Given the description of an element on the screen output the (x, y) to click on. 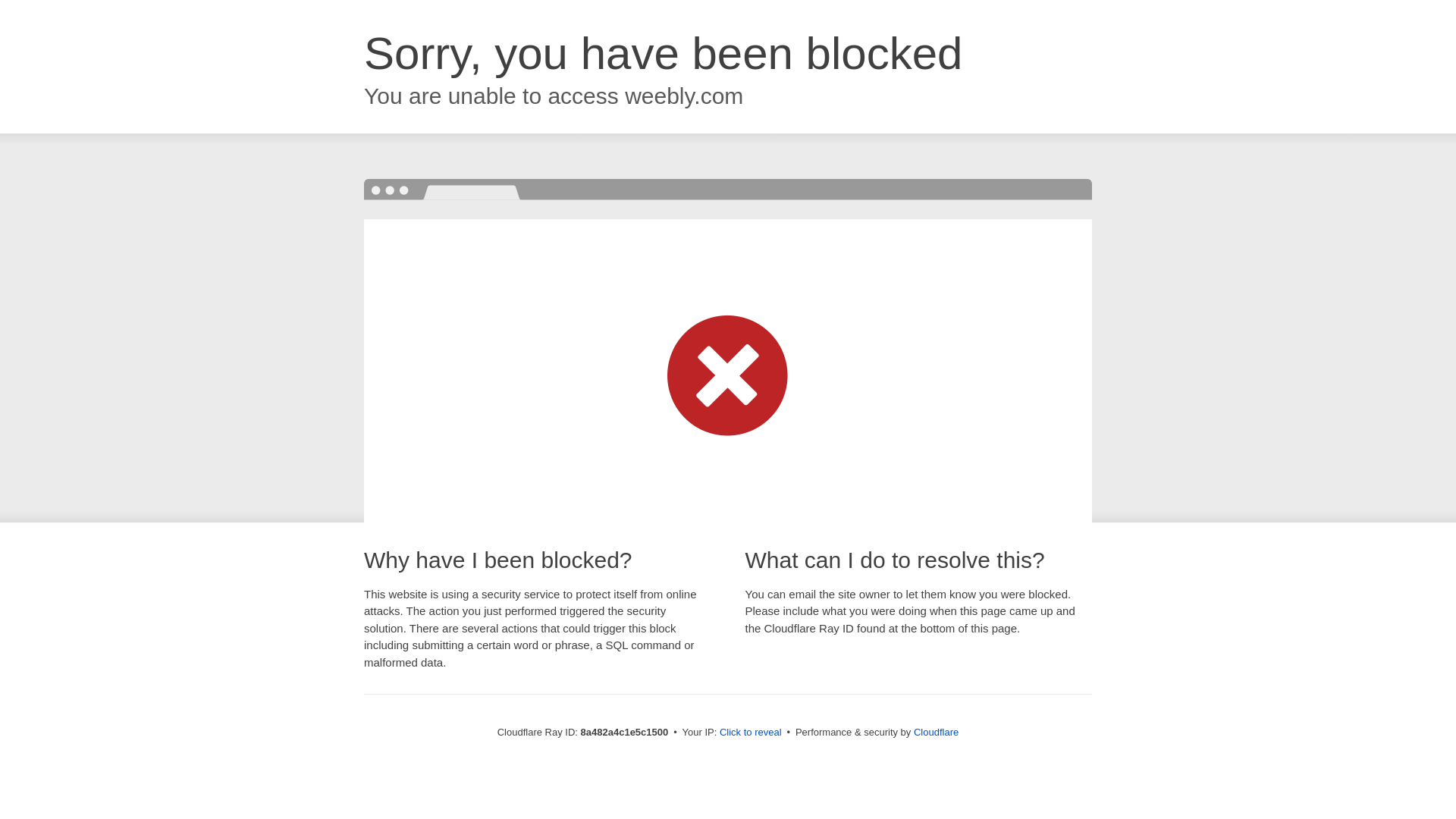
Cloudflare (936, 731)
Click to reveal (750, 732)
